Given the description of an element on the screen output the (x, y) to click on. 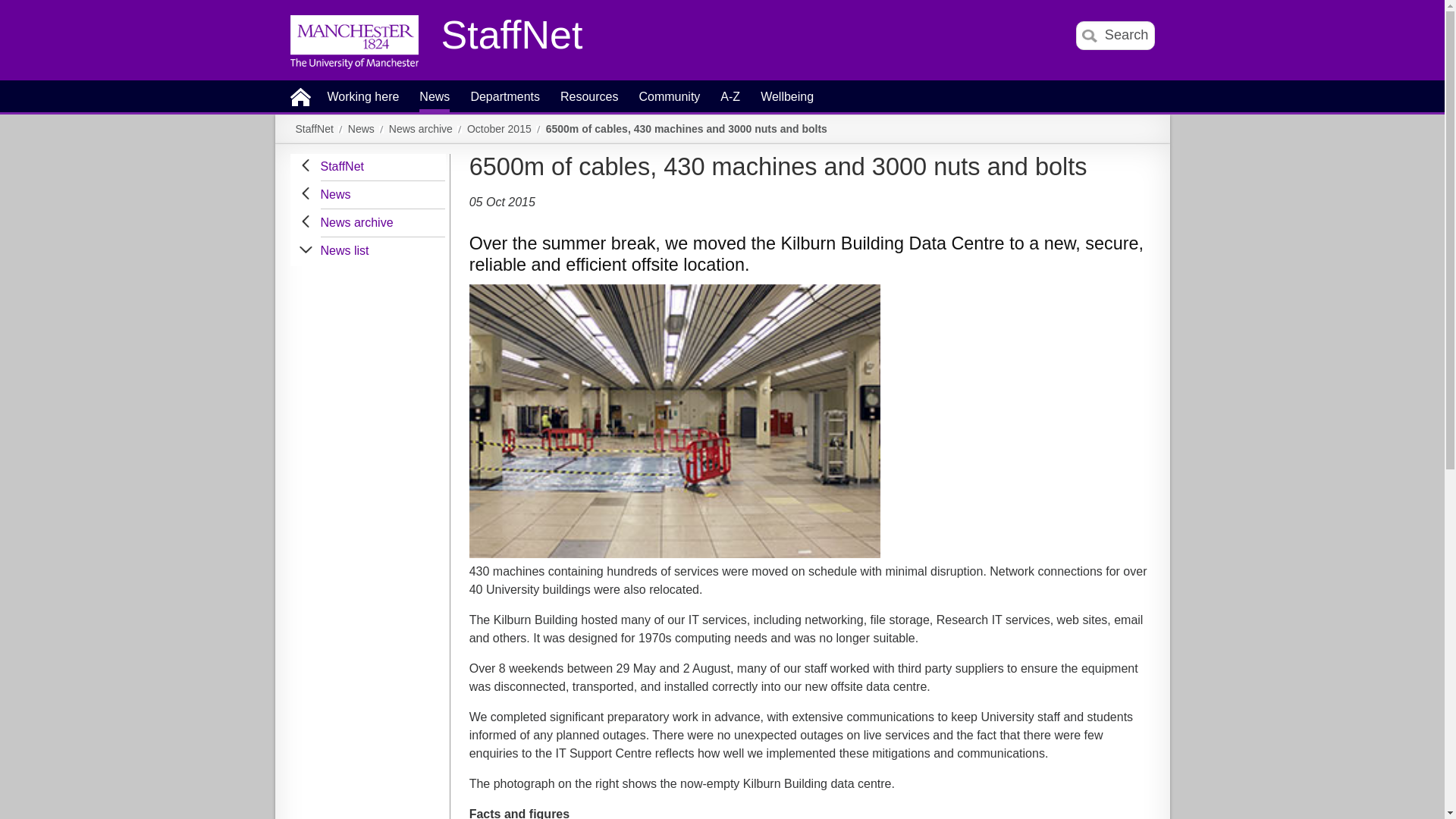
Working here (362, 101)
Home (299, 95)
StaffNet (512, 38)
Search (1114, 35)
